Given the description of an element on the screen output the (x, y) to click on. 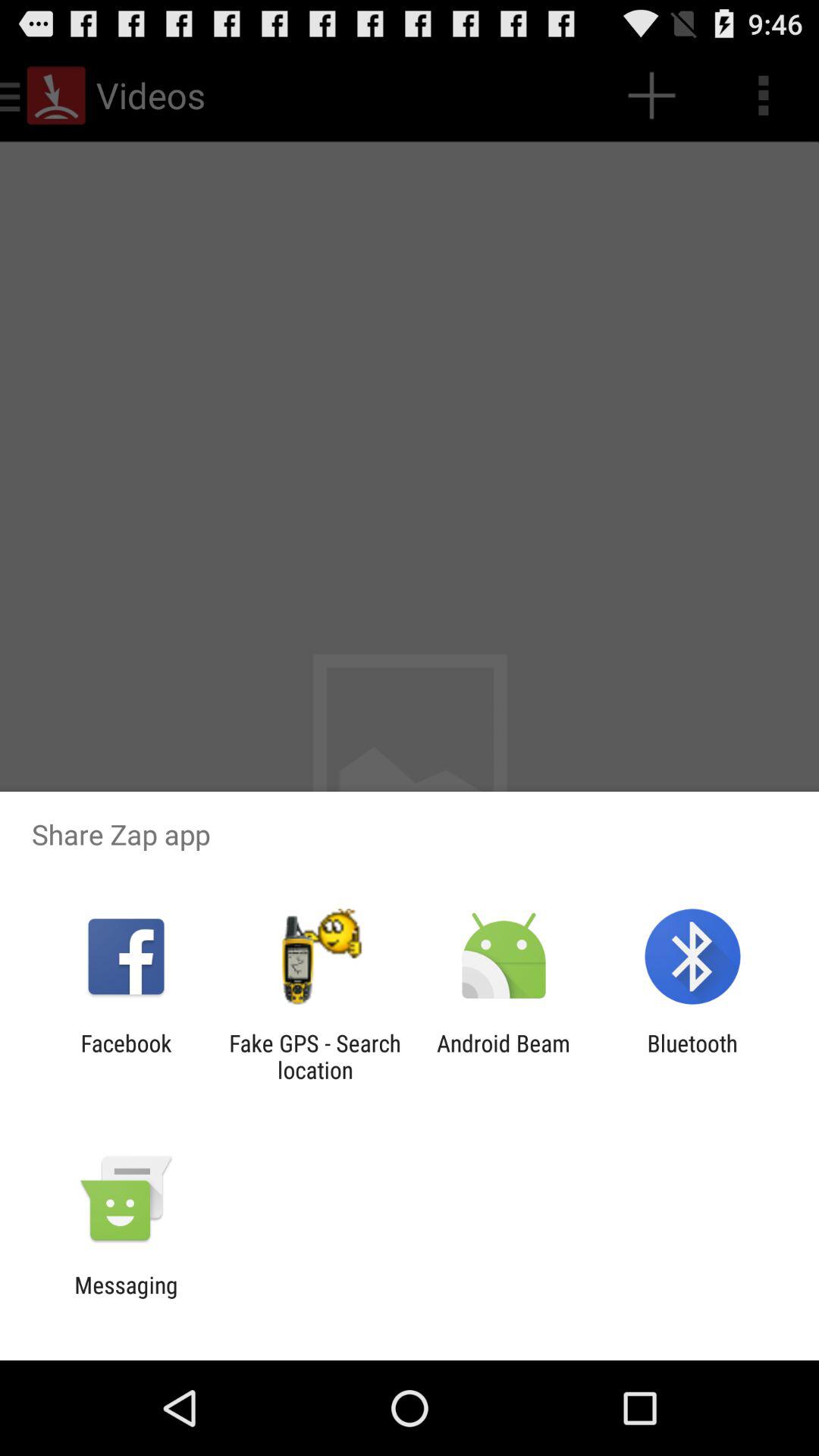
press the android beam icon (503, 1056)
